Given the description of an element on the screen output the (x, y) to click on. 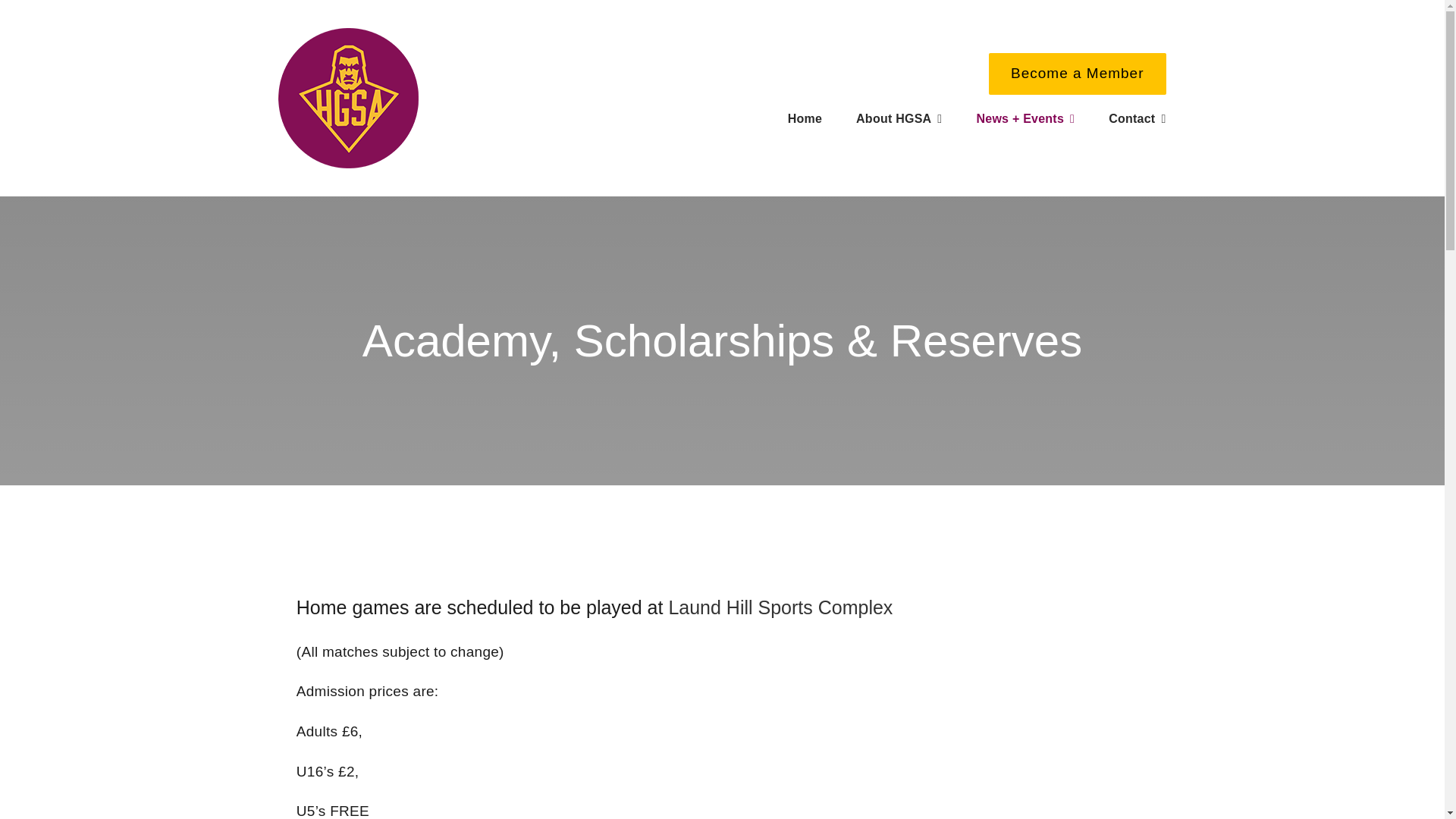
Contact (1137, 119)
Laund Hill Sports Complex (780, 607)
About HGSA (899, 119)
Become a Member (1077, 74)
